Given the description of an element on the screen output the (x, y) to click on. 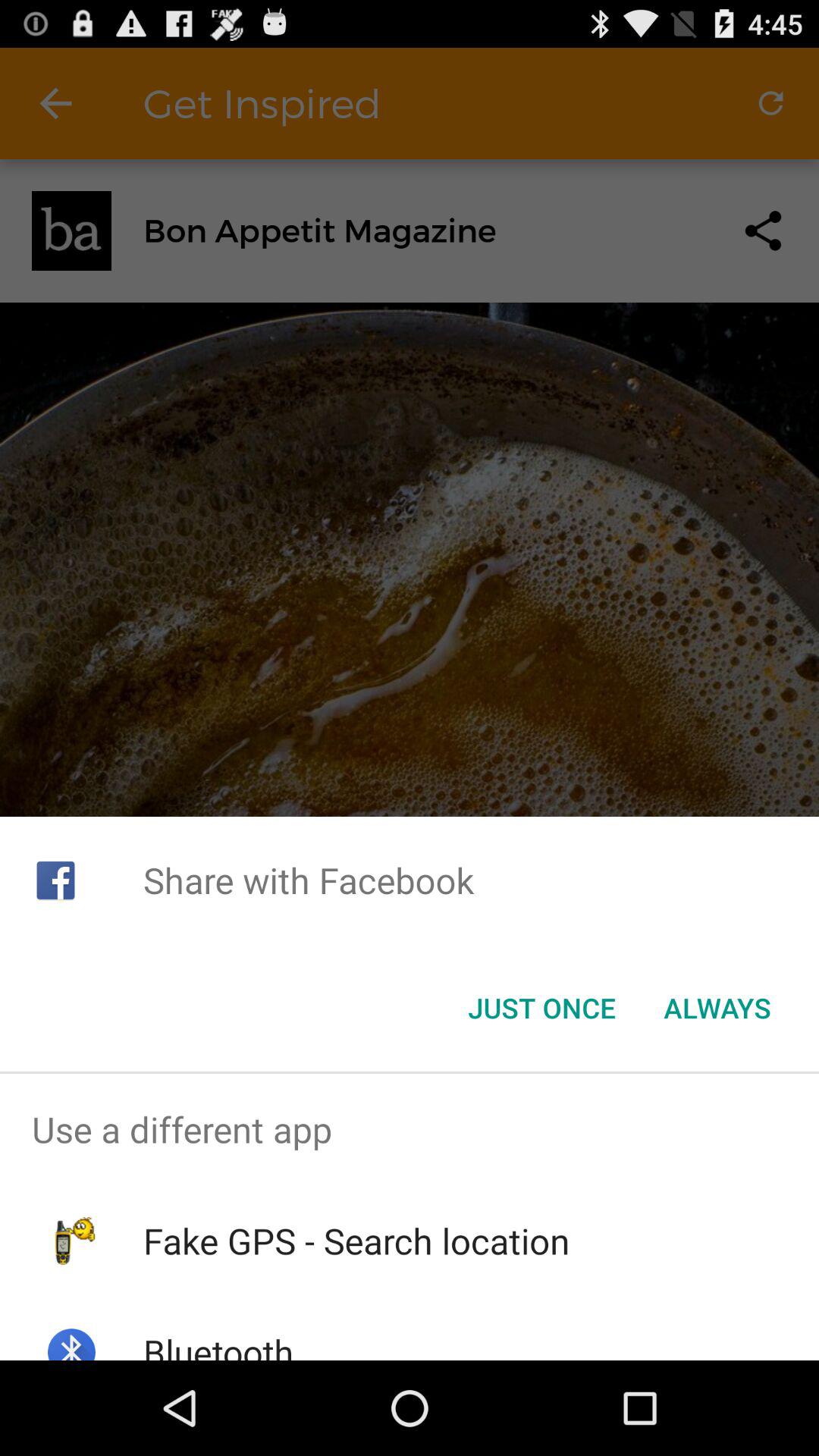
flip to the fake gps search (356, 1240)
